Given the description of an element on the screen output the (x, y) to click on. 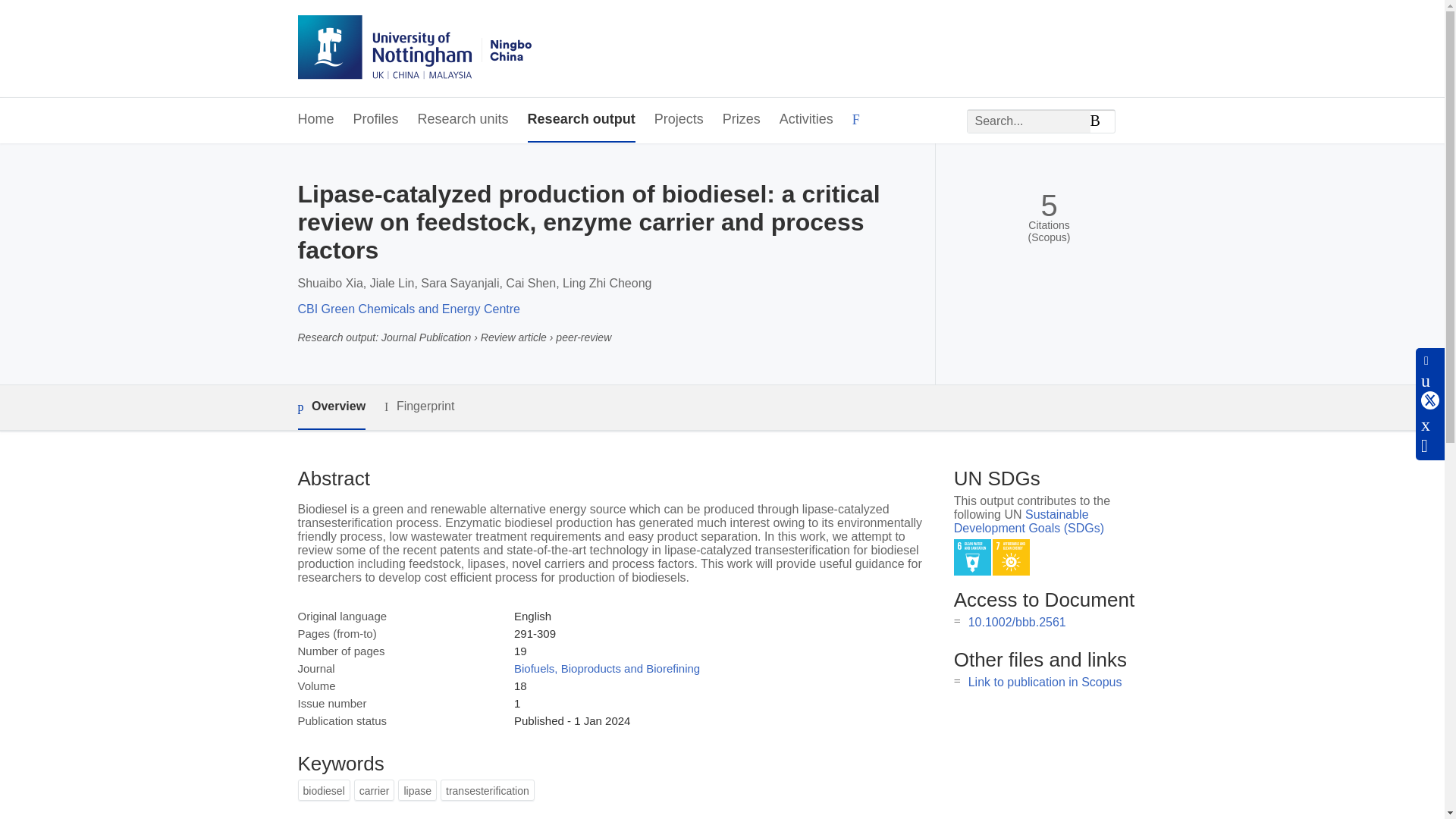
Fingerprint (419, 406)
Projects (678, 119)
Link to publication in Scopus (1045, 681)
CBI Green Chemicals and Energy Centre (408, 308)
Research output (580, 119)
University of Nottingham Ningbo China Home (414, 48)
Biofuels, Bioproducts and Biorefining (606, 667)
Overview (331, 406)
Activities (805, 119)
SDG 6 - Clean Water and Sanitation (972, 557)
SDG 7 - Affordable and Clean Energy (1010, 557)
Research units (462, 119)
Profiles (375, 119)
